Given the description of an element on the screen output the (x, y) to click on. 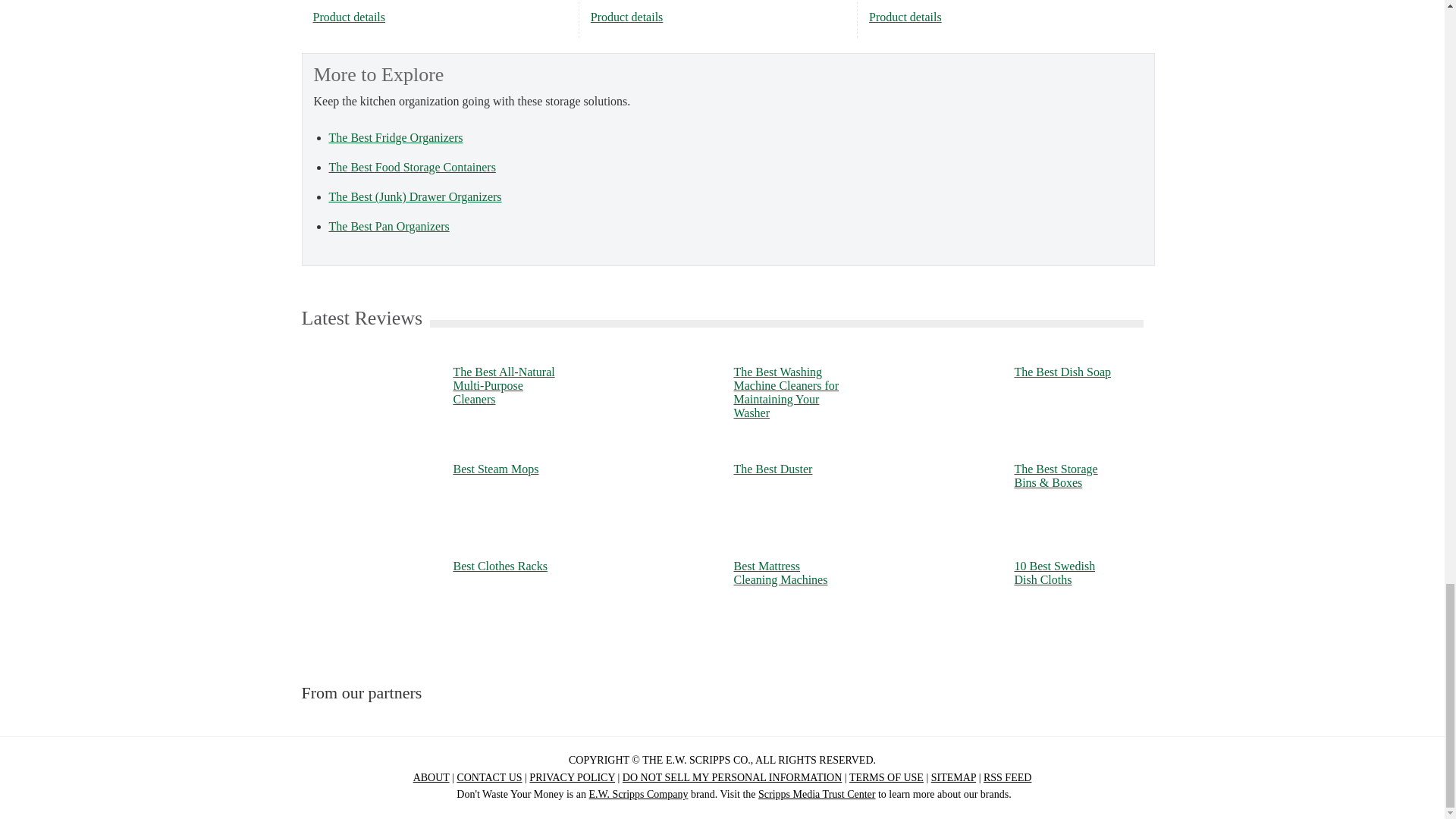
mDesign Open Front Stackable Orgainzation Bin, 2-Piece (349, 16)
Vtopmart Plastic Pantry Organization Bin,8-Piece (905, 16)
Alpacasso BPA-Free Plastic Organization Bin, 8-Piece (627, 16)
